Given the description of an element on the screen output the (x, y) to click on. 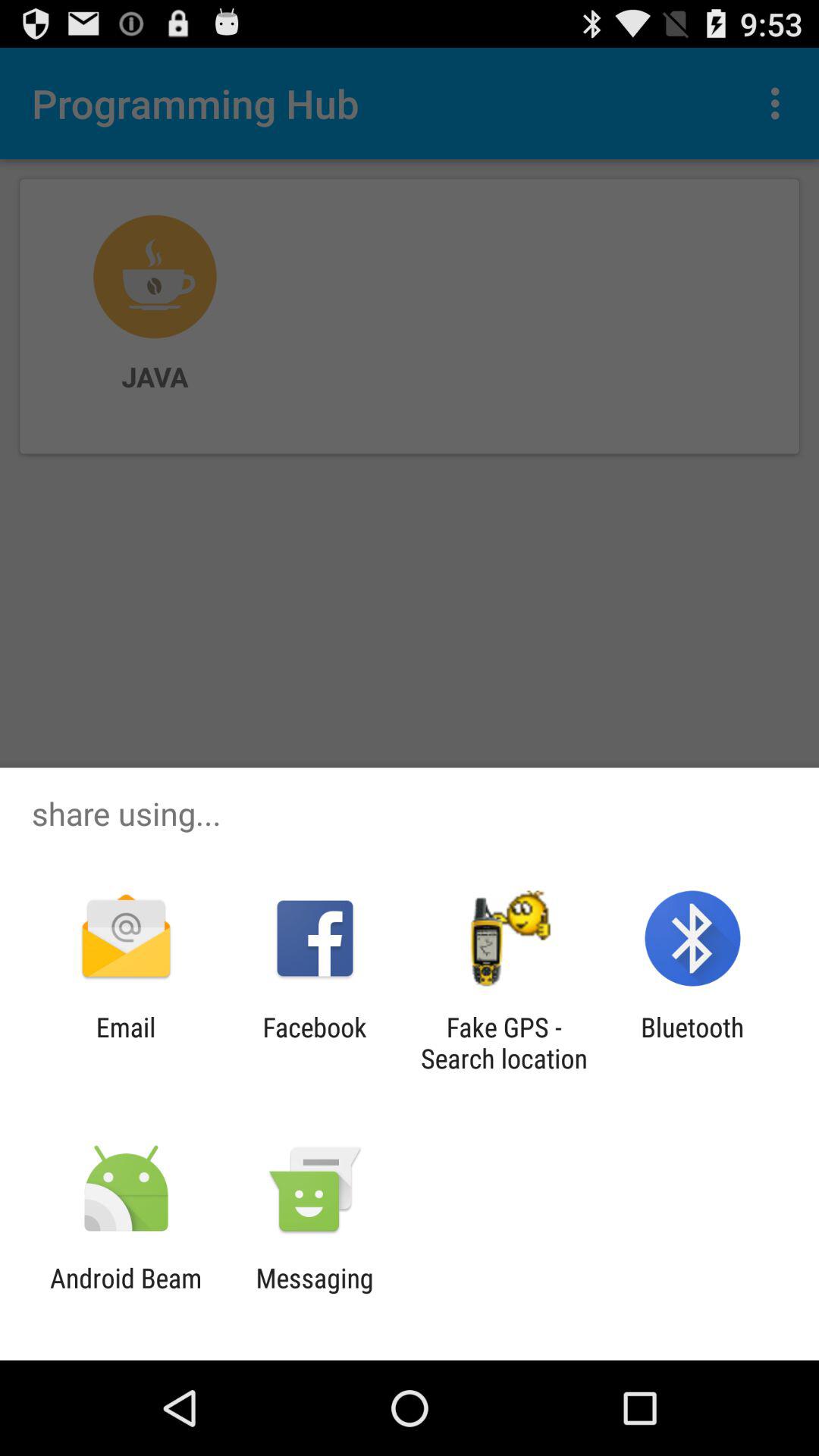
click the icon to the right of email (314, 1042)
